Given the description of an element on the screen output the (x, y) to click on. 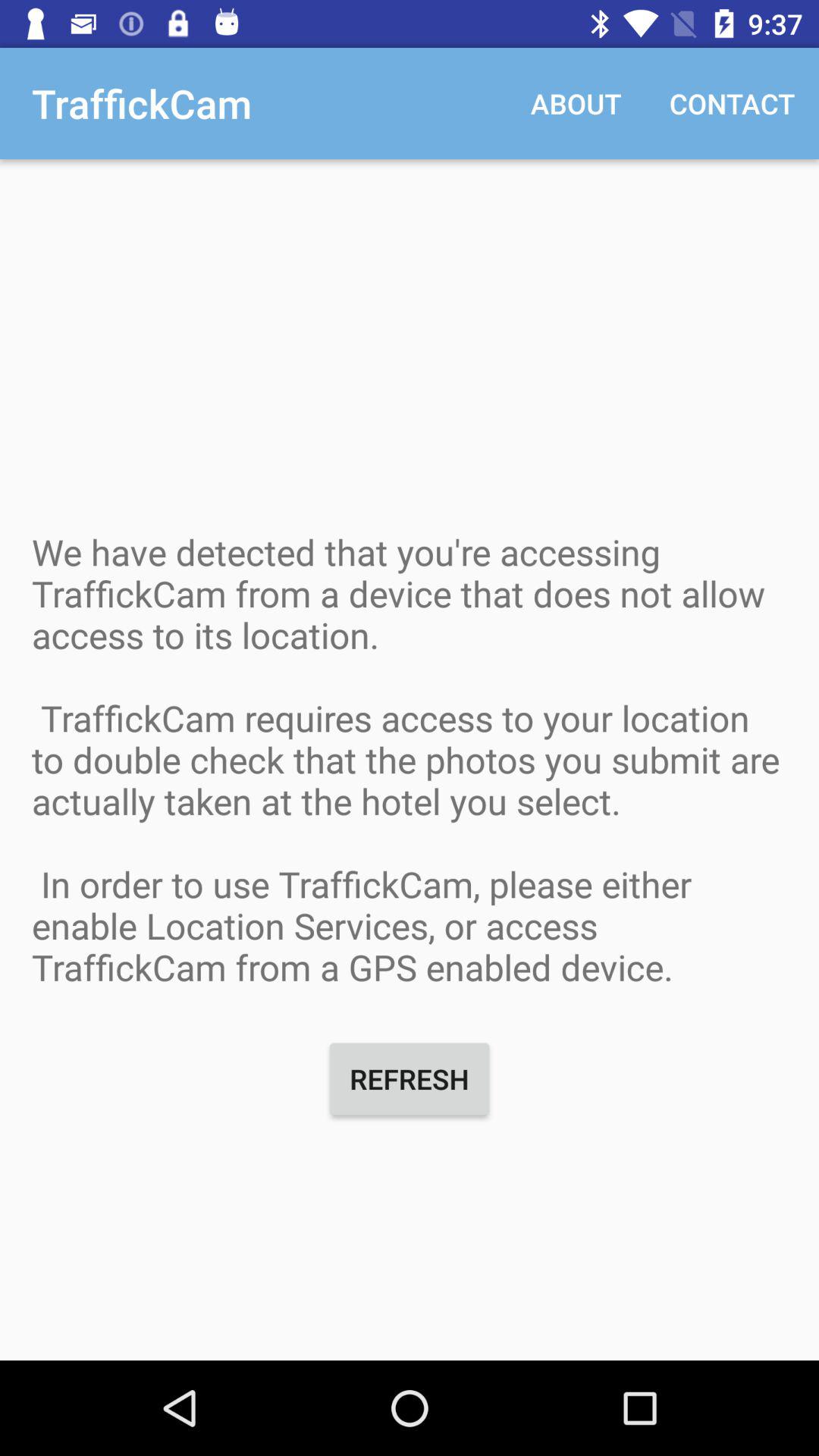
tap item above we have detected (732, 103)
